Given the description of an element on the screen output the (x, y) to click on. 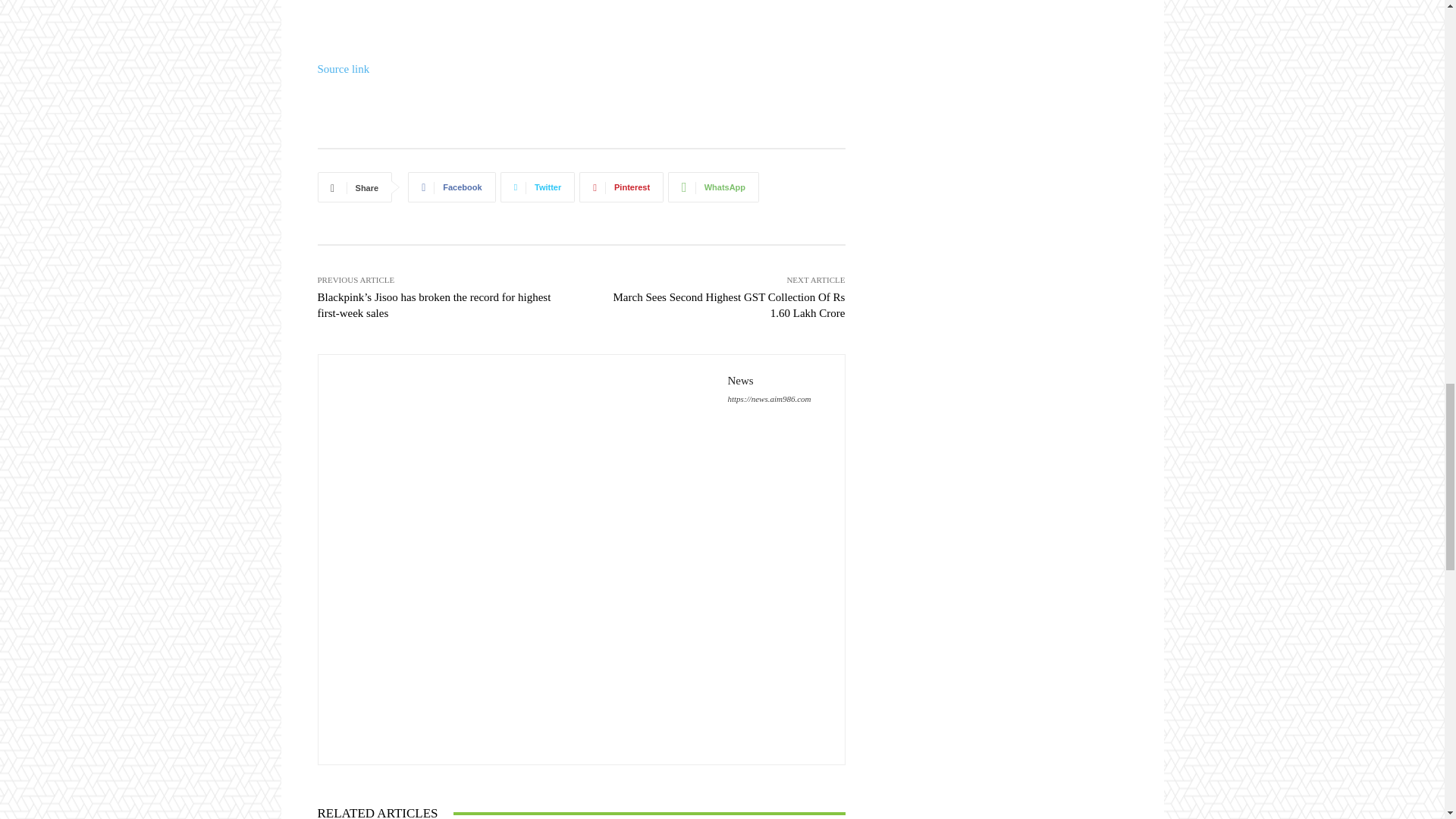
WhatsApp (713, 186)
Pinterest (621, 186)
Twitter (537, 186)
Facebook (451, 186)
